Given the description of an element on the screen output the (x, y) to click on. 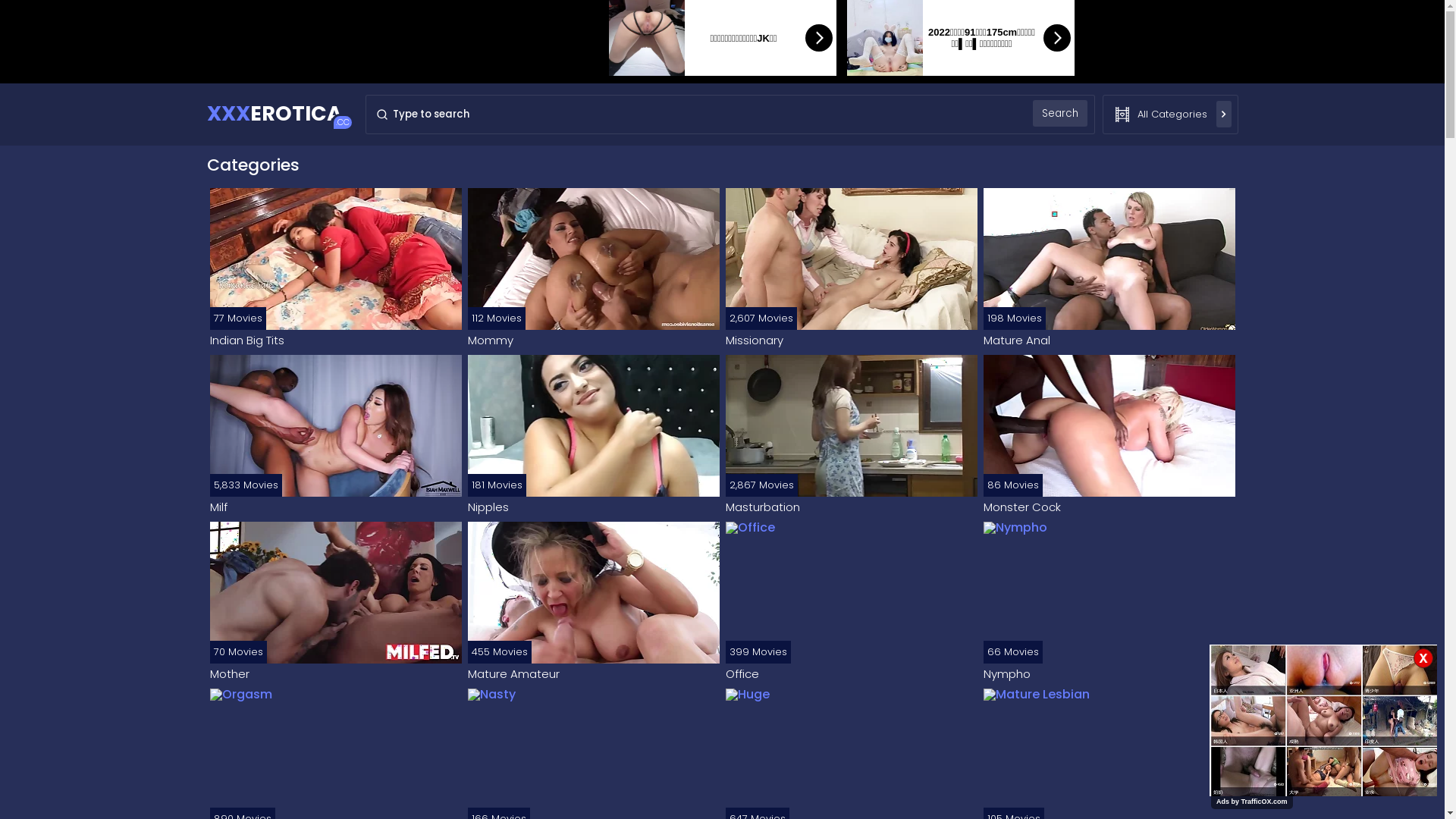
Monster Cock Element type: text (1108, 507)
Masturbation Element type: text (850, 507)
Nipples Element type: text (592, 507)
Nympho Element type: text (1108, 673)
Mommy Element type: text (592, 340)
Mature Amateur Element type: text (592, 673)
Mature Anal Element type: text (1108, 340)
Milf Element type: text (335, 507)
Missionary Element type: text (850, 340)
Ads by TrafficOX.com Element type: text (1251, 801)
All Categories Element type: text (1170, 114)
Mother Element type: text (335, 673)
Search Element type: text (1059, 113)
XXXEROTICA
.CC Element type: text (273, 113)
Search X Videos Element type: hover (730, 114)
Office Element type: text (850, 673)
Indian Big Tits Element type: text (335, 340)
